Given the description of an element on the screen output the (x, y) to click on. 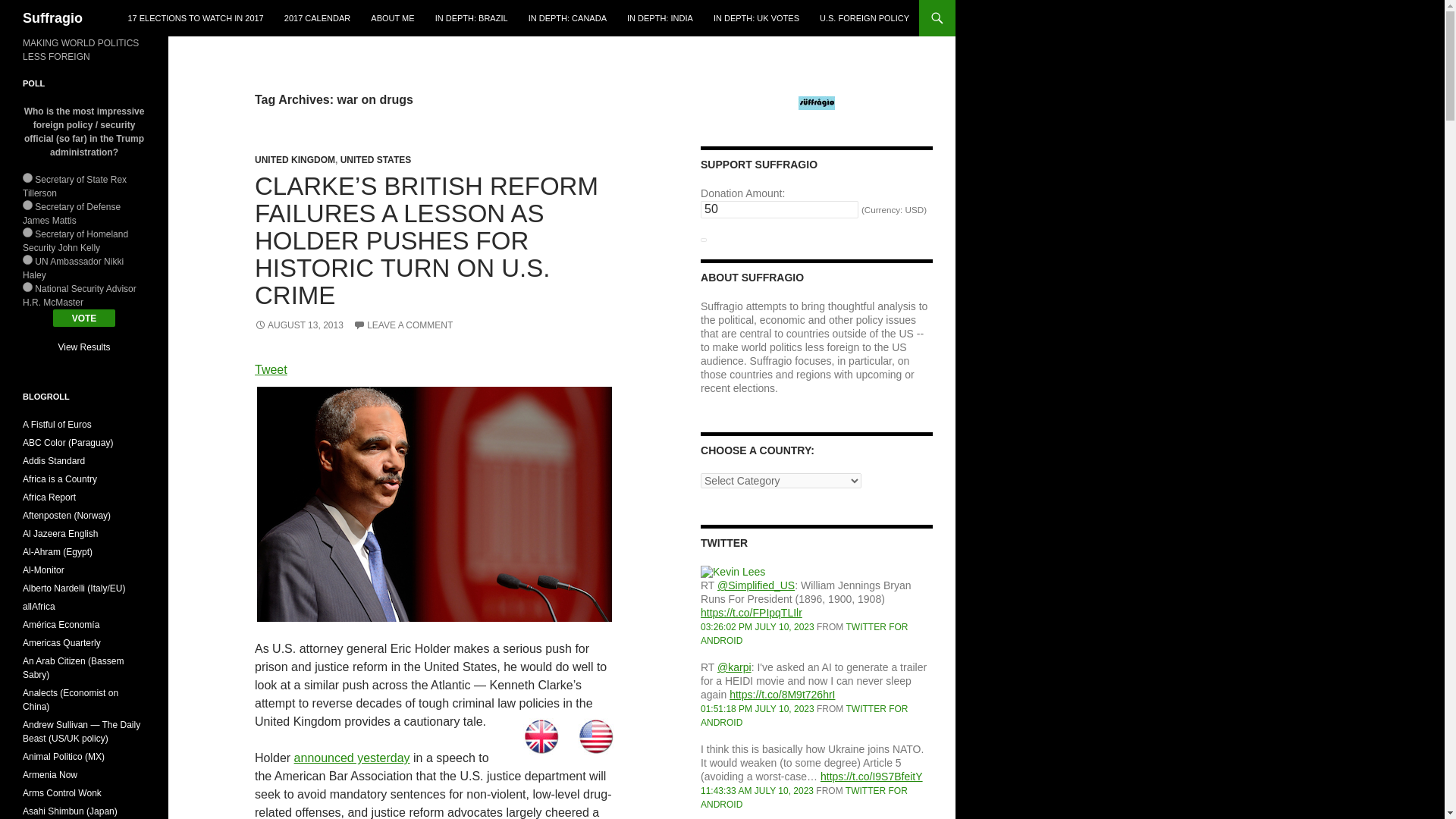
IN DEPTH: UK VOTES (756, 18)
AUGUST 13, 2013 (298, 325)
IN DEPTH: CANADA (567, 18)
91 (27, 177)
IN DEPTH: INDIA (659, 18)
95 (27, 286)
2017 CALENDAR (317, 18)
92 (27, 204)
Kevin Lees (732, 571)
UNITED STATES (376, 159)
IN DEPTH: BRAZIL (471, 18)
LEAVE A COMMENT (402, 325)
UNITED KINGDOM (294, 159)
17 ELECTIONS TO WATCH IN 2017 (194, 18)
93 (27, 232)
